Given the description of an element on the screen output the (x, y) to click on. 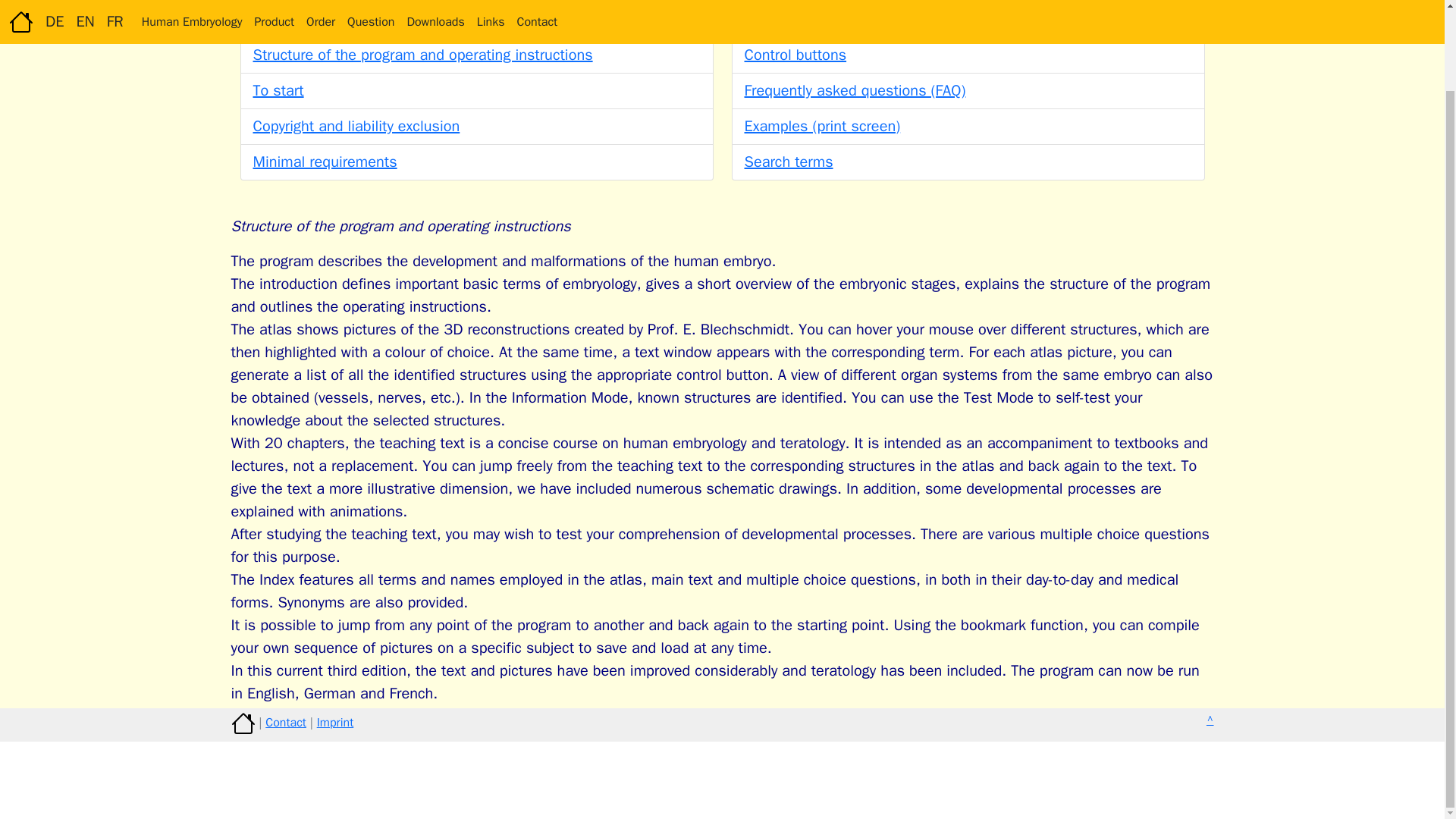
Imprint (335, 722)
Structure of the program and operating instructions (422, 54)
Copyright and liability exclusion (356, 126)
Search terms (788, 161)
Contact (284, 722)
Minimal requirements (325, 161)
Start (269, 18)
Control buttons (795, 54)
To start (278, 90)
Modifications (788, 18)
